Given the description of an element on the screen output the (x, y) to click on. 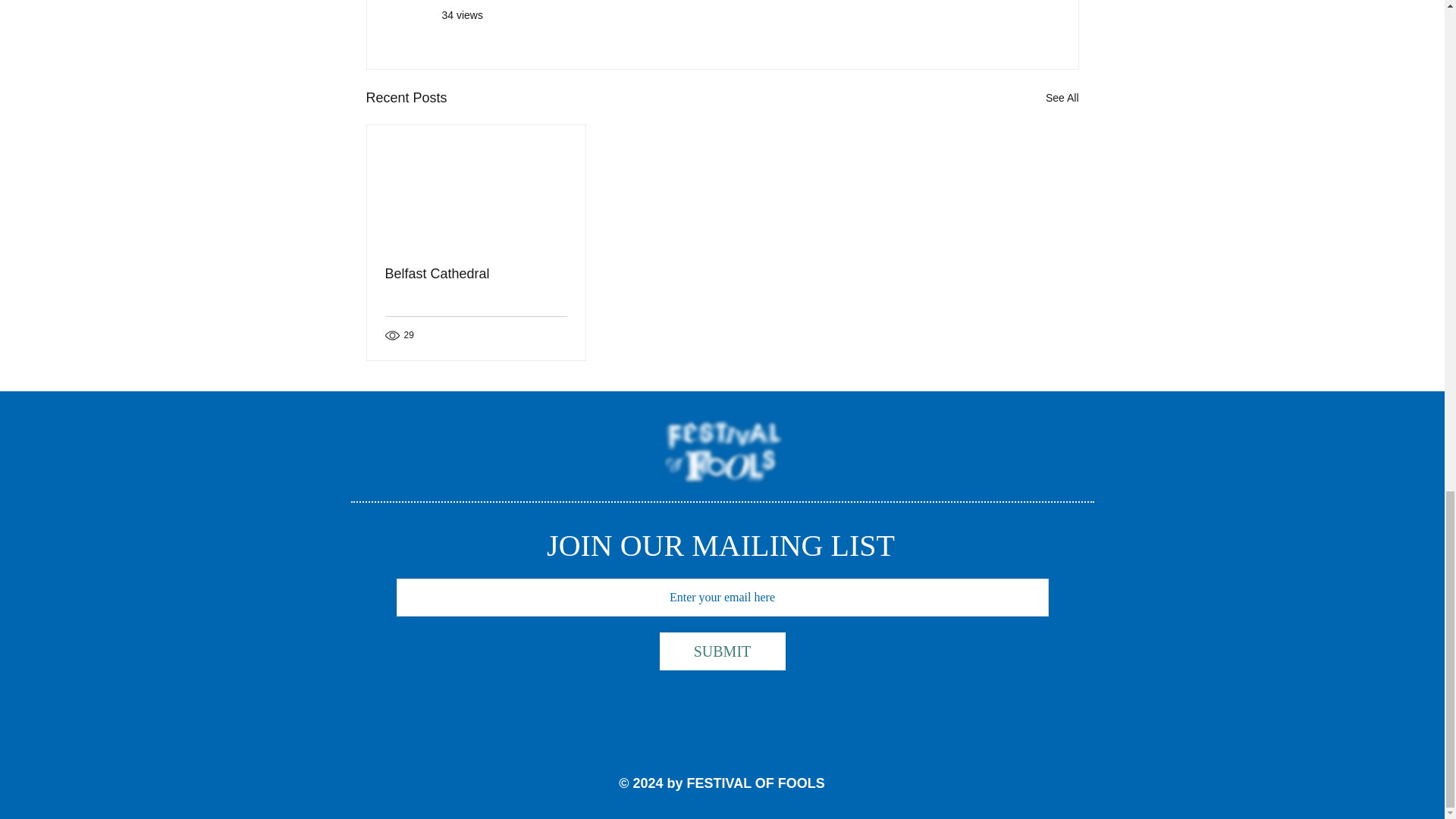
SUBMIT (722, 651)
See All (1061, 97)
Belfast Cathedral (476, 273)
